Given the description of an element on the screen output the (x, y) to click on. 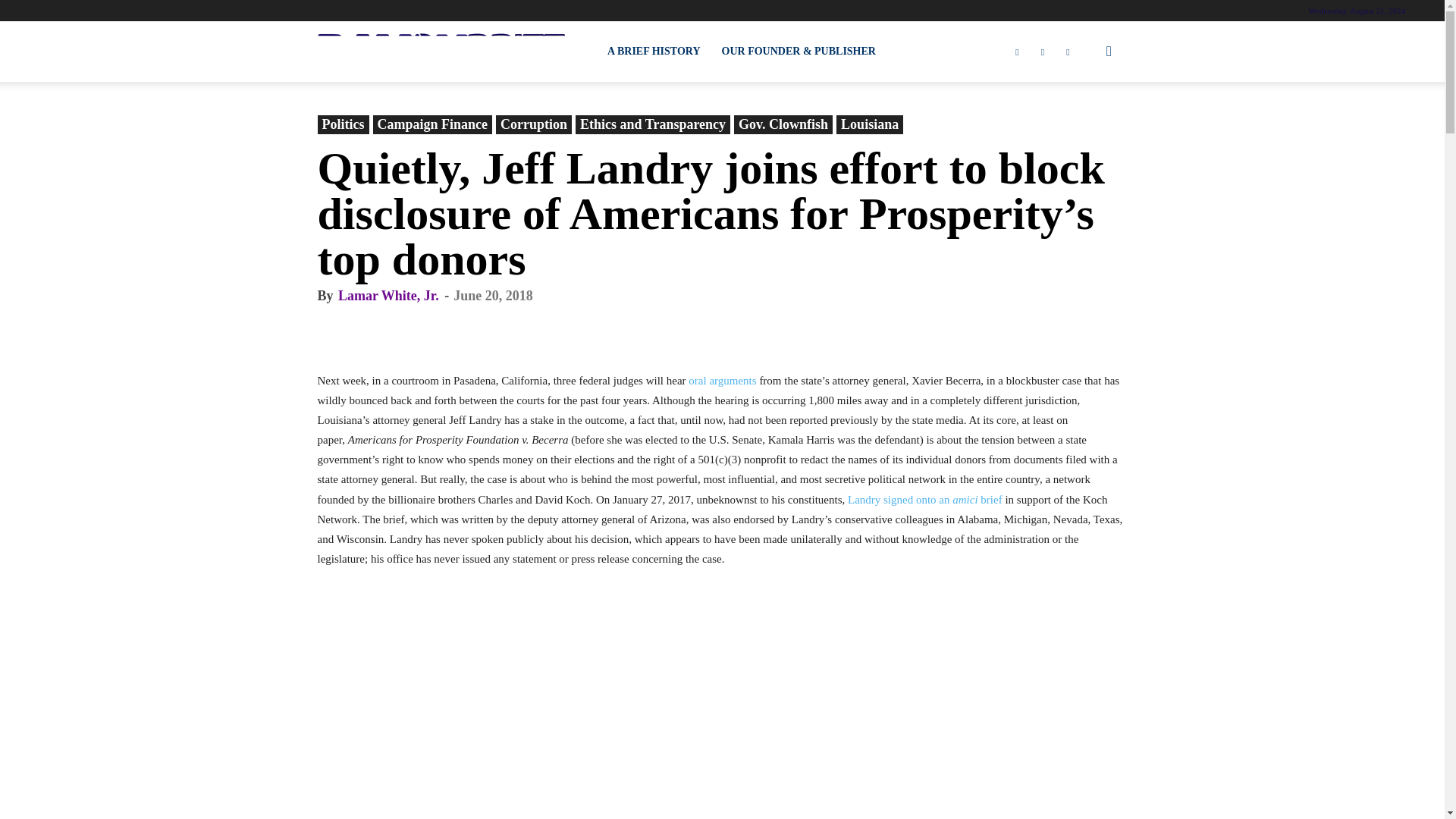
Bayou Brief (440, 51)
Campaign Finance (432, 124)
Politics (342, 124)
Ethics and Transparency (652, 124)
Gov. Clownfish (782, 124)
Louisiana (868, 124)
oral arguments (721, 380)
Search (1085, 124)
Lamar White, Jr. (388, 295)
A BRIEF HISTORY (653, 51)
